Given the description of an element on the screen output the (x, y) to click on. 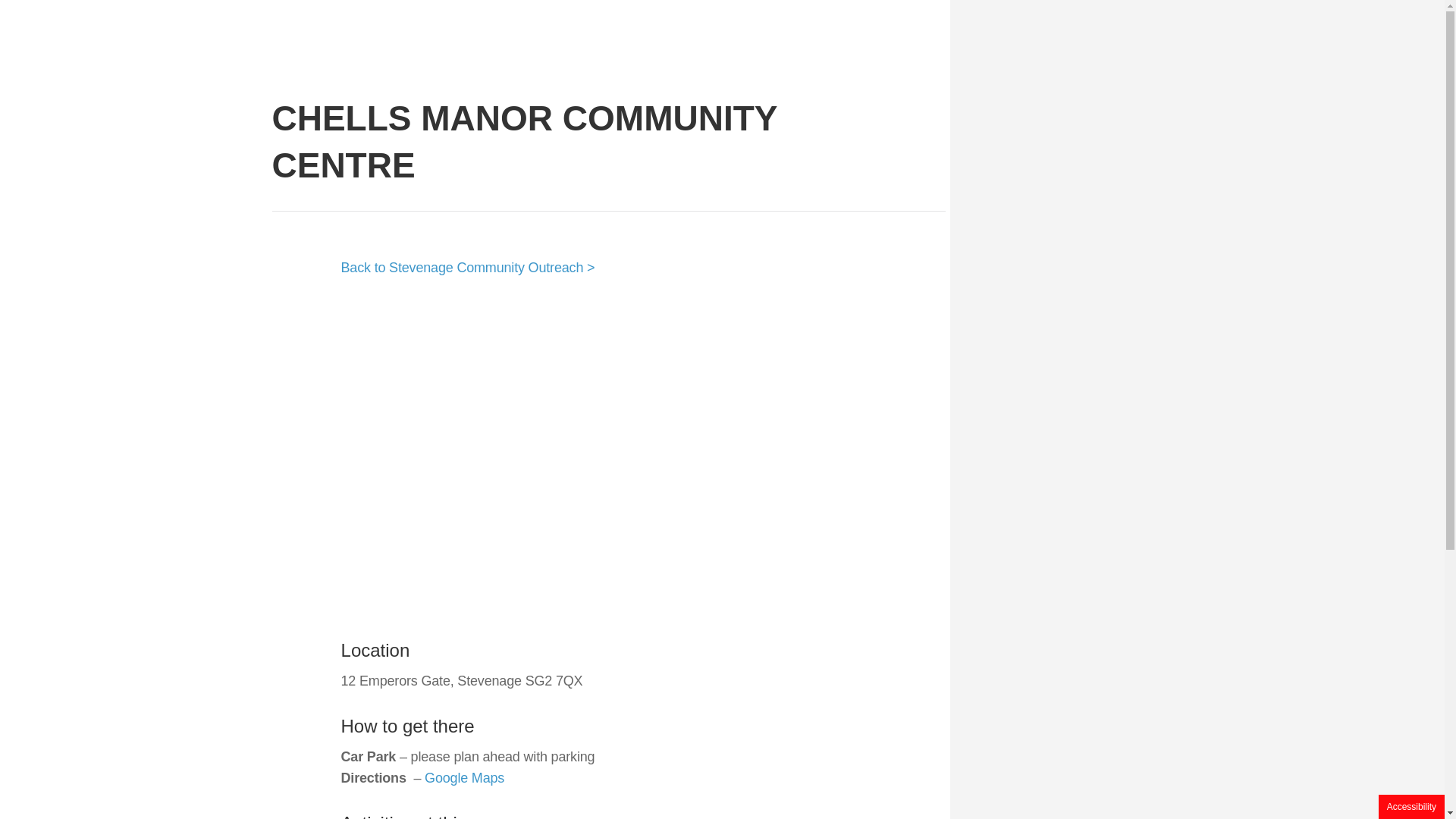
Google Maps (464, 777)
